Given the description of an element on the screen output the (x, y) to click on. 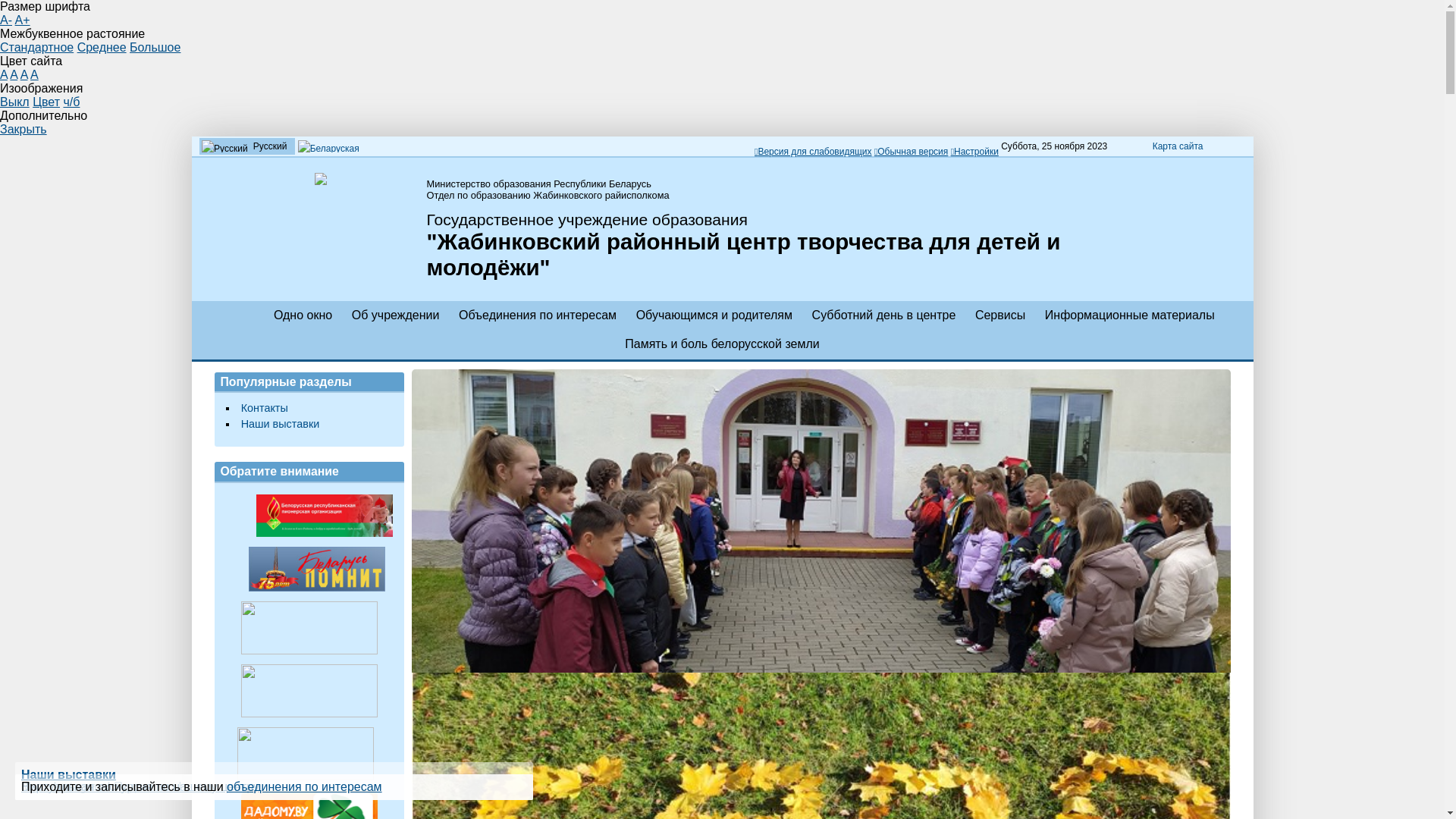
A Element type: text (3, 74)
A Element type: text (13, 74)
A- Element type: text (6, 19)
A Element type: text (34, 74)
A Element type: text (24, 74)
A+ Element type: text (22, 19)
